Given the description of an element on the screen output the (x, y) to click on. 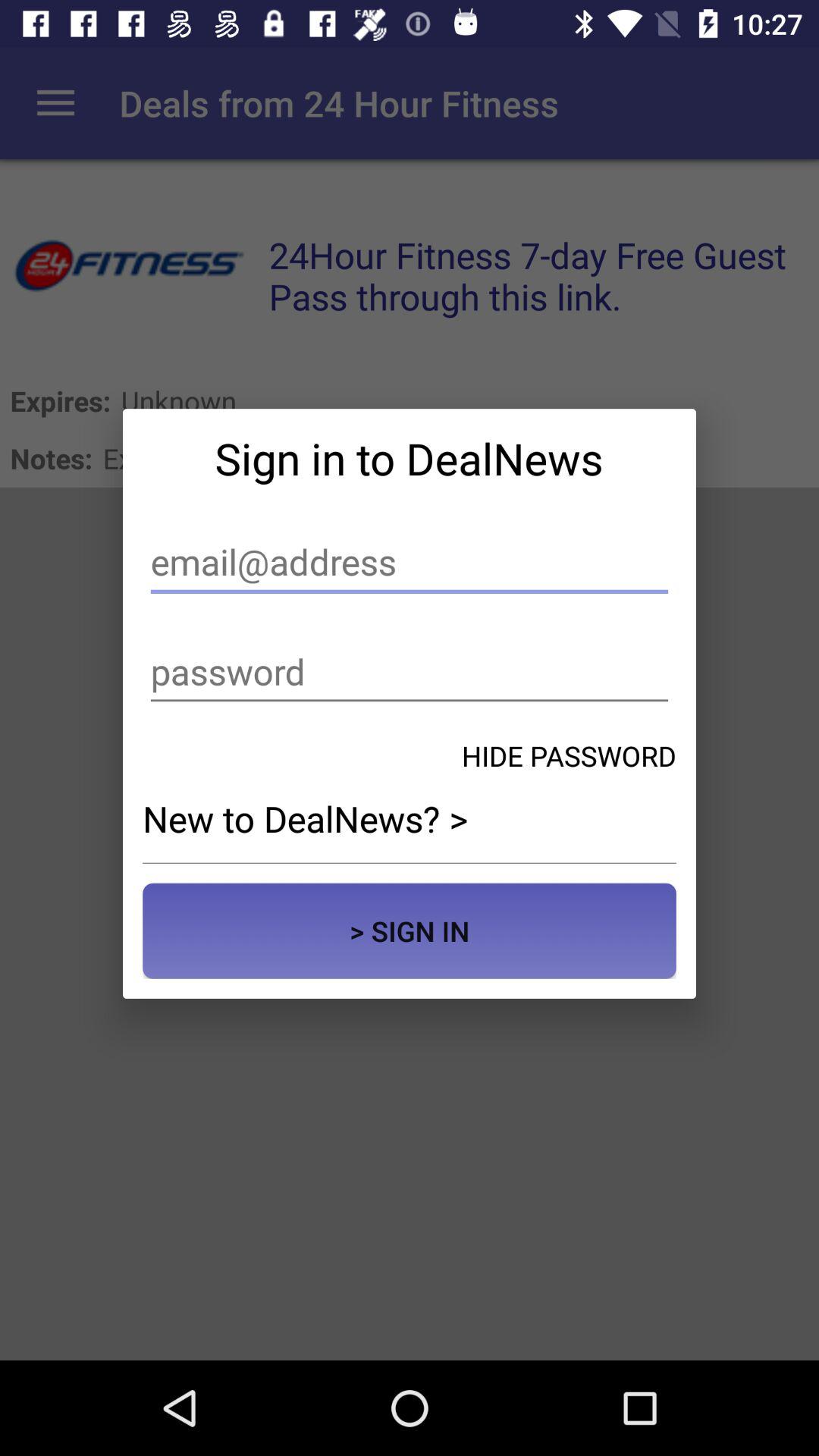
scroll to hide password icon (568, 755)
